Given the description of an element on the screen output the (x, y) to click on. 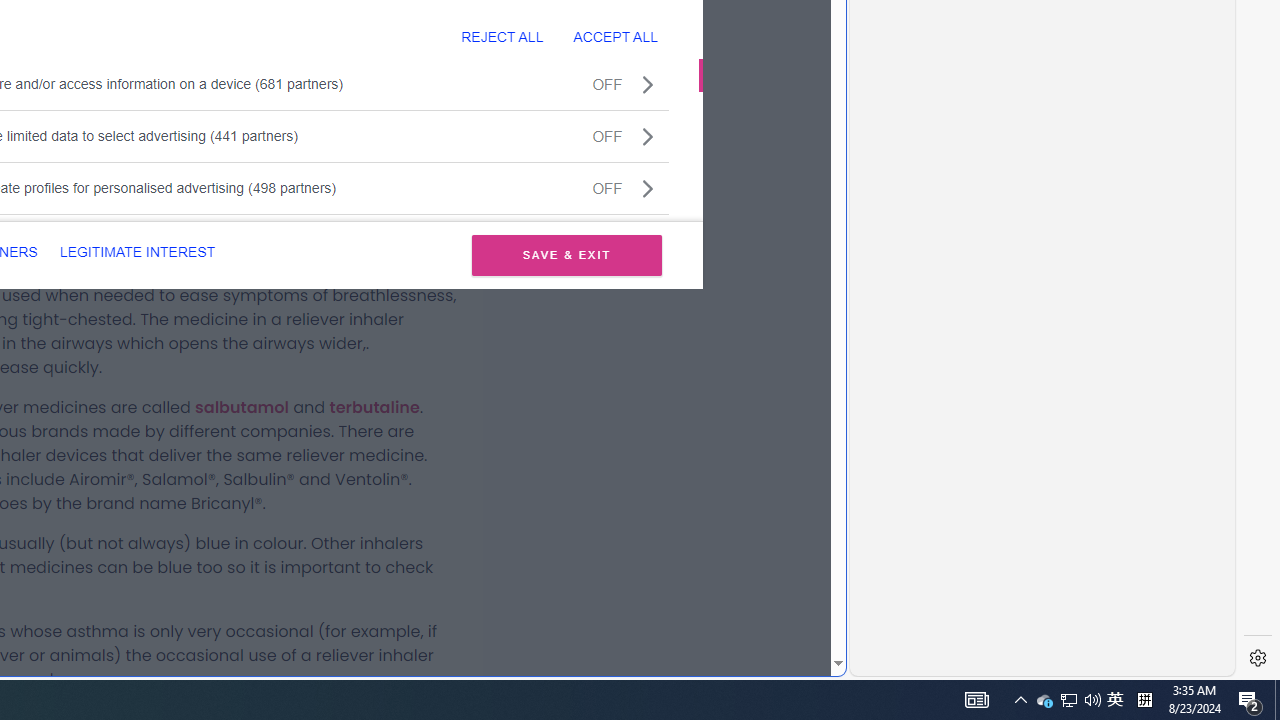
terbutaline (373, 407)
ACCEPT ALL (615, 36)
Class: css-jswnc6 (648, 187)
REJECT ALL (502, 36)
SAVE & EXIT (566, 254)
salbutamol (241, 407)
LEGITIMATE INTEREST (137, 251)
